Given the description of an element on the screen output the (x, y) to click on. 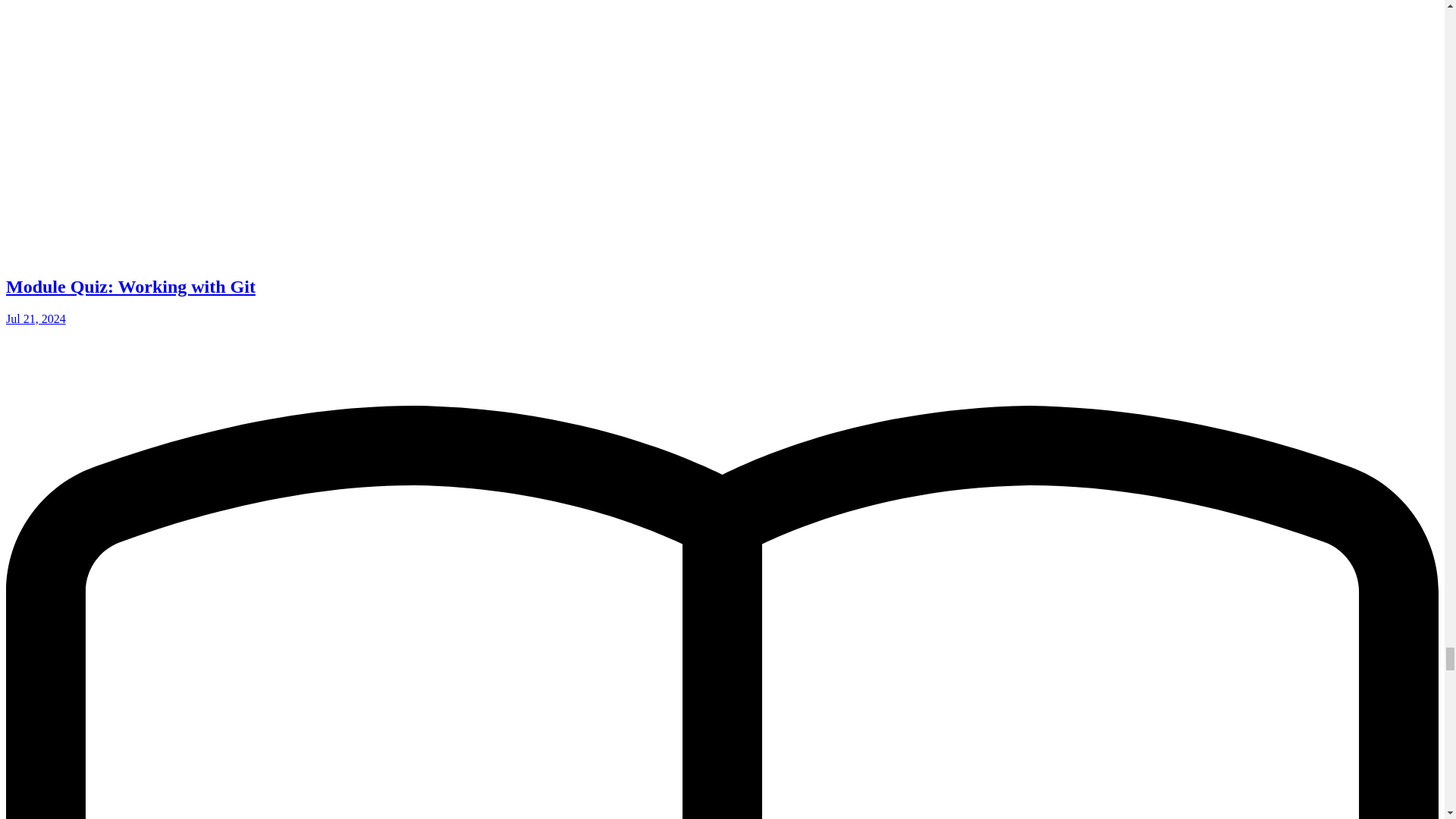
Module Quiz: Working with Git (130, 286)
